Given the description of an element on the screen output the (x, y) to click on. 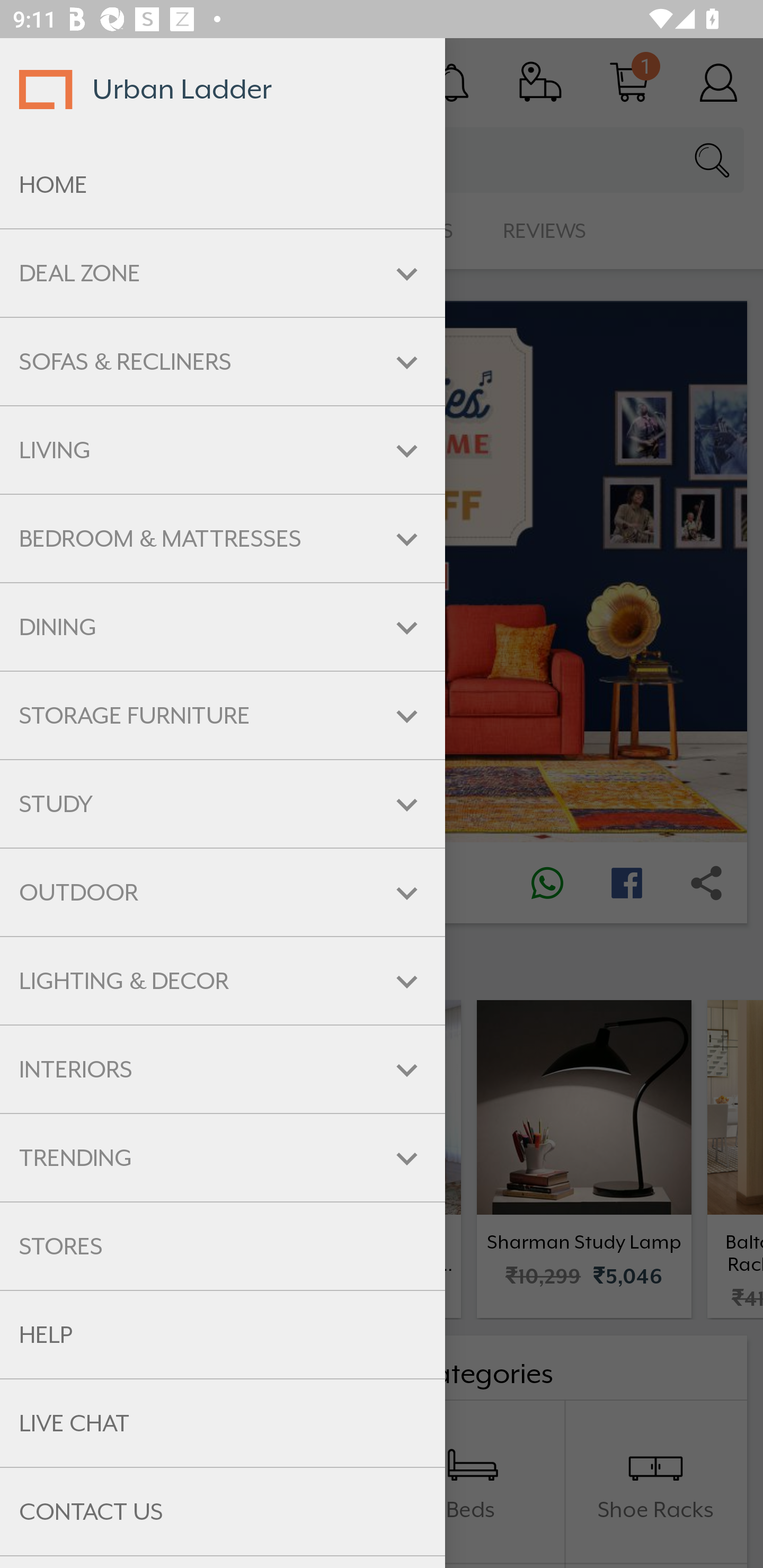
Urban Ladder (222, 89)
HOME (222, 184)
DEAL ZONE  (222, 273)
SOFAS & RECLINERS  (222, 361)
LIVING  (222, 450)
BEDROOM & MATTRESSES  (222, 538)
DINING  (222, 627)
STORAGE FURNITURE  (222, 715)
STUDY  (222, 803)
OUTDOOR  (222, 892)
LIGHTING & DECOR  (222, 980)
INTERIORS  (222, 1069)
TRENDING  (222, 1157)
STORES (222, 1246)
HELP (222, 1334)
LIVE CHAT (222, 1422)
CONTACT US (222, 1512)
